Given the description of an element on the screen output the (x, y) to click on. 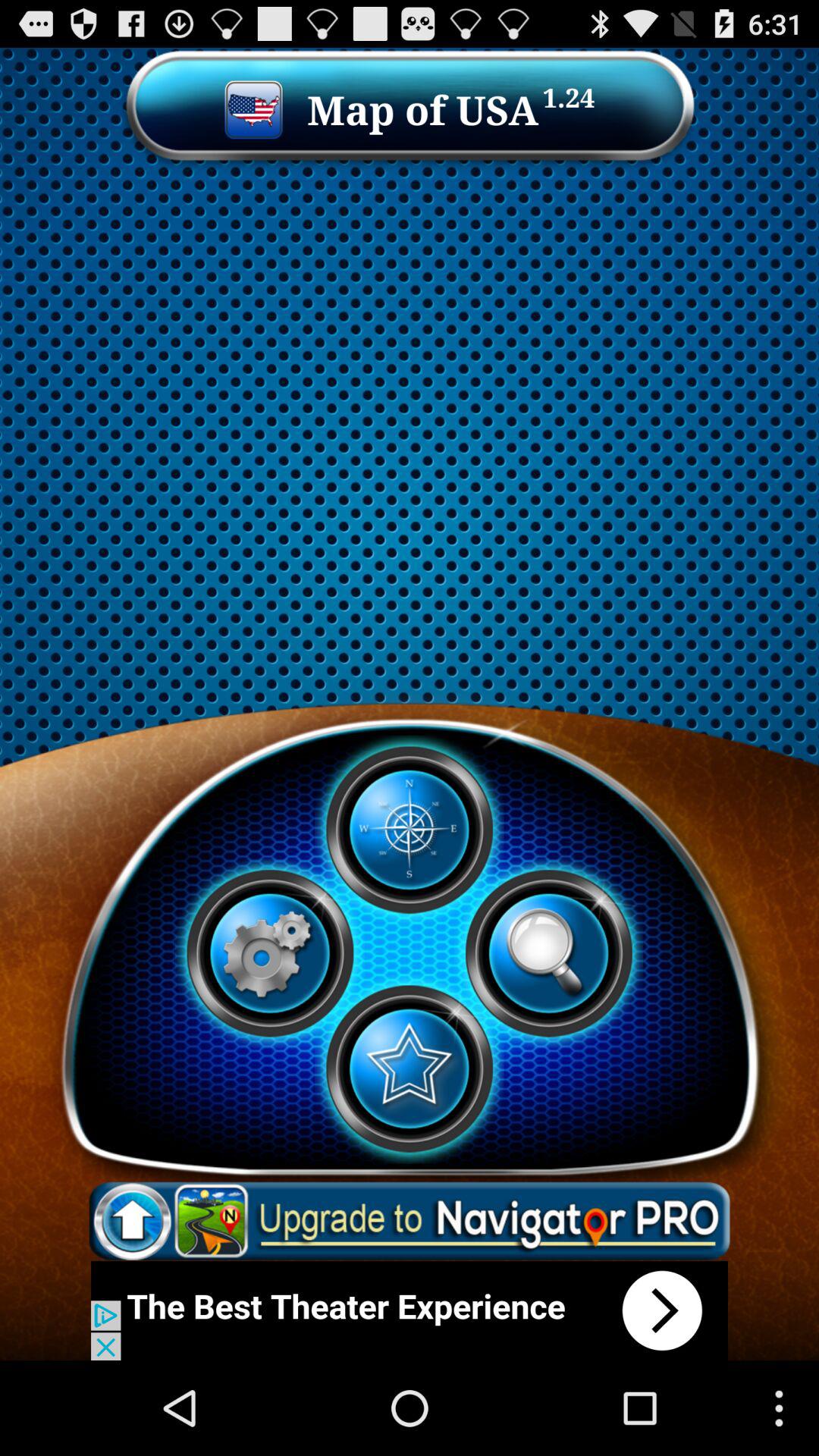
go back (409, 1310)
